Given the description of an element on the screen output the (x, y) to click on. 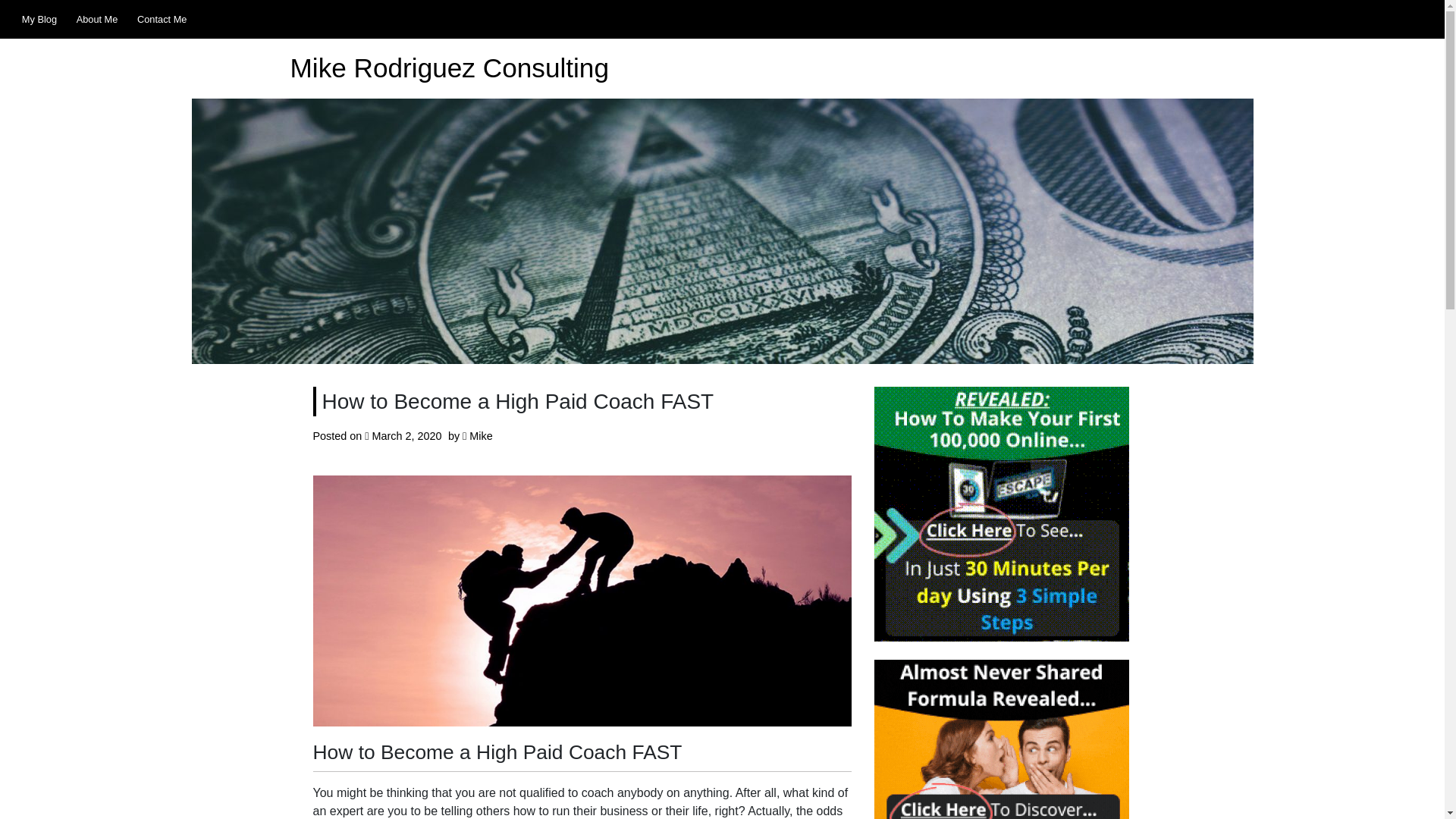
Contact Me (162, 18)
March 2, 2020 (407, 435)
Mike (480, 435)
Mike Rodriguez Consulting (448, 68)
About Me (97, 18)
My Blog (38, 18)
